Given the description of an element on the screen output the (x, y) to click on. 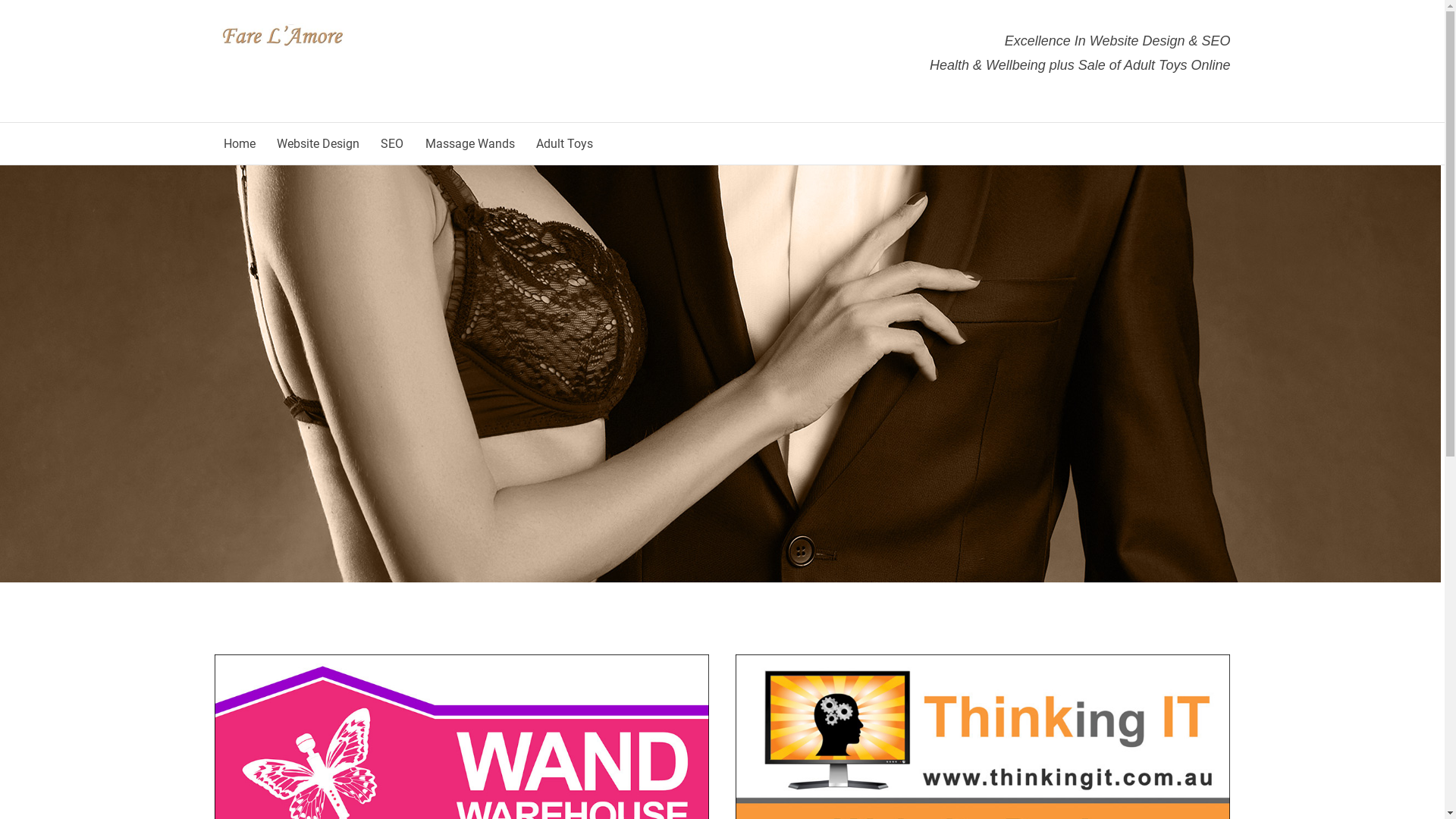
Fare L'Amore | Luxury Sex Toys & Intimate Pleasure Products. Element type: hover (281, 35)
Home Element type: text (238, 143)
Adult Toys Element type: text (564, 143)
SEO Element type: text (391, 143)
Fare L'Amore | Luxury Sex Toys & Intimate Pleasure Products. Element type: hover (281, 44)
Massage Wands Element type: text (470, 143)
Website Design Element type: text (317, 143)
Fare LAmore | Website Design | SEO | Sex Toys Element type: hover (720, 373)
